Given the description of an element on the screen output the (x, y) to click on. 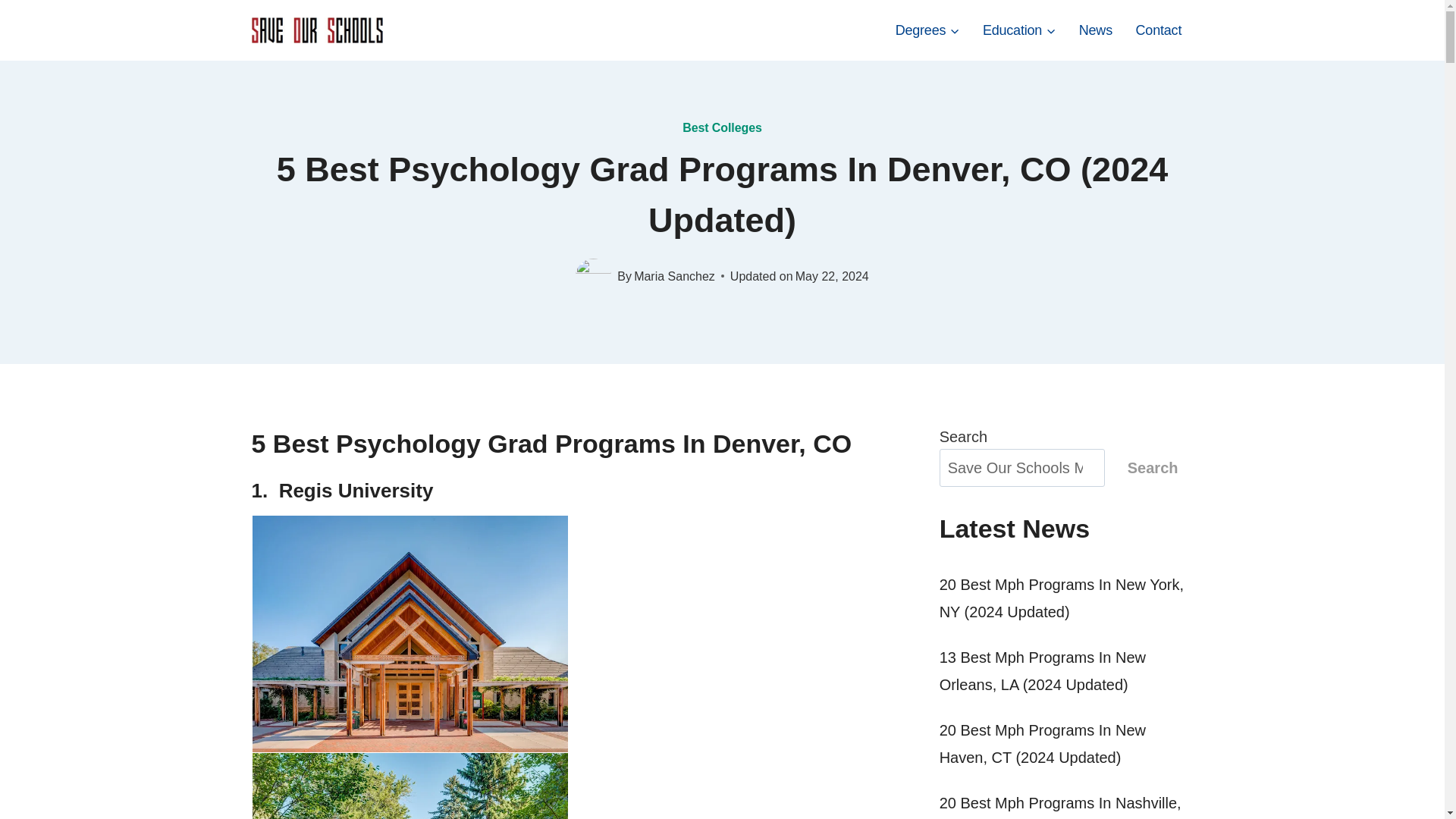
Degrees (927, 30)
Contact (1158, 30)
Education (1019, 30)
News (1095, 30)
Maria Sanchez (673, 276)
Best Colleges (721, 127)
